Given the description of an element on the screen output the (x, y) to click on. 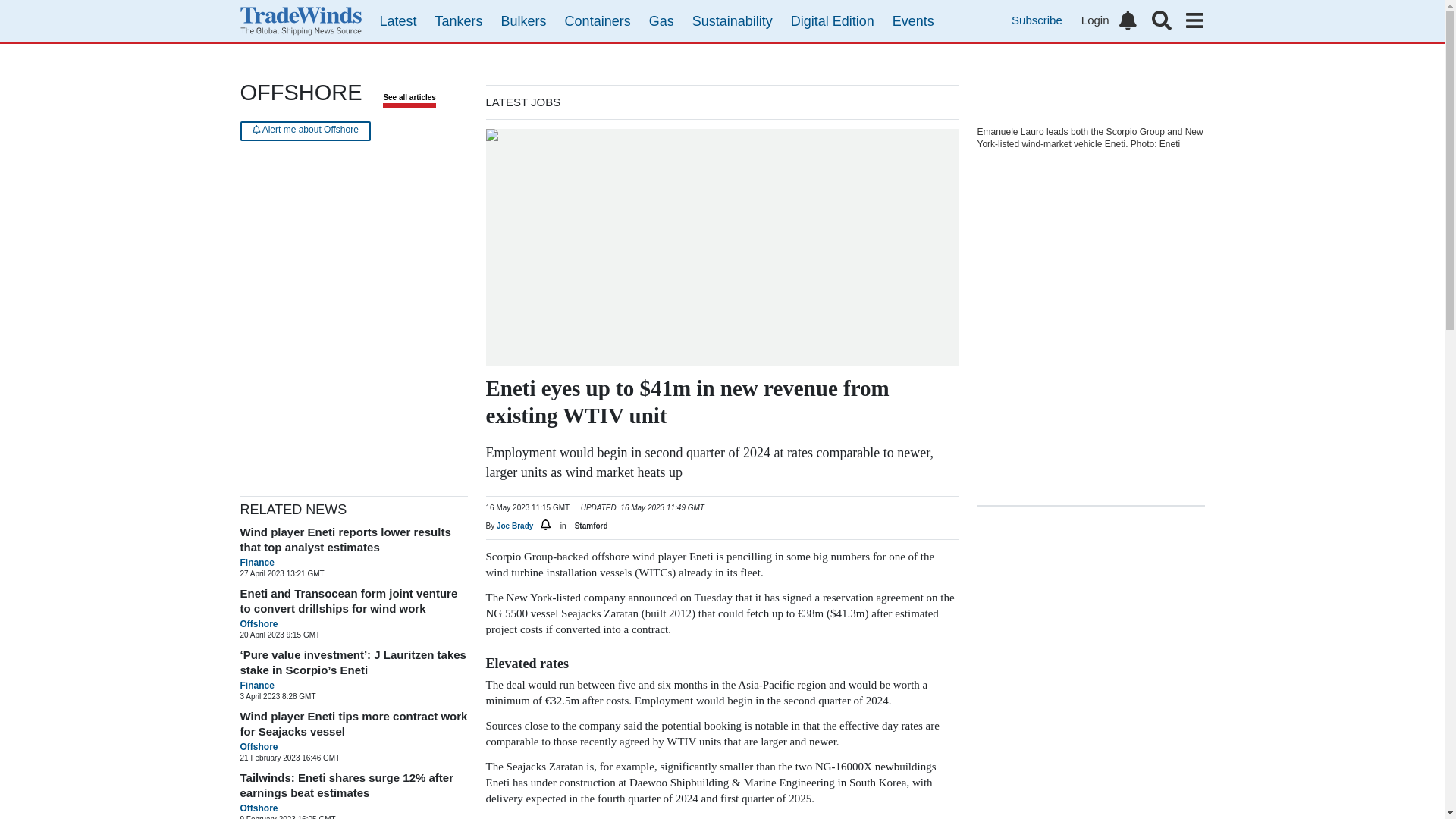
Login (1095, 19)
Latest (397, 20)
Gas (661, 20)
Tankers (459, 20)
Subscribe to get alerts for new articles from Joe Brady (546, 525)
Subscribe (1041, 19)
Bulkers (523, 20)
Events (913, 20)
Containers (597, 20)
Digital Edition (832, 20)
Sustainability (733, 20)
